Given the description of an element on the screen output the (x, y) to click on. 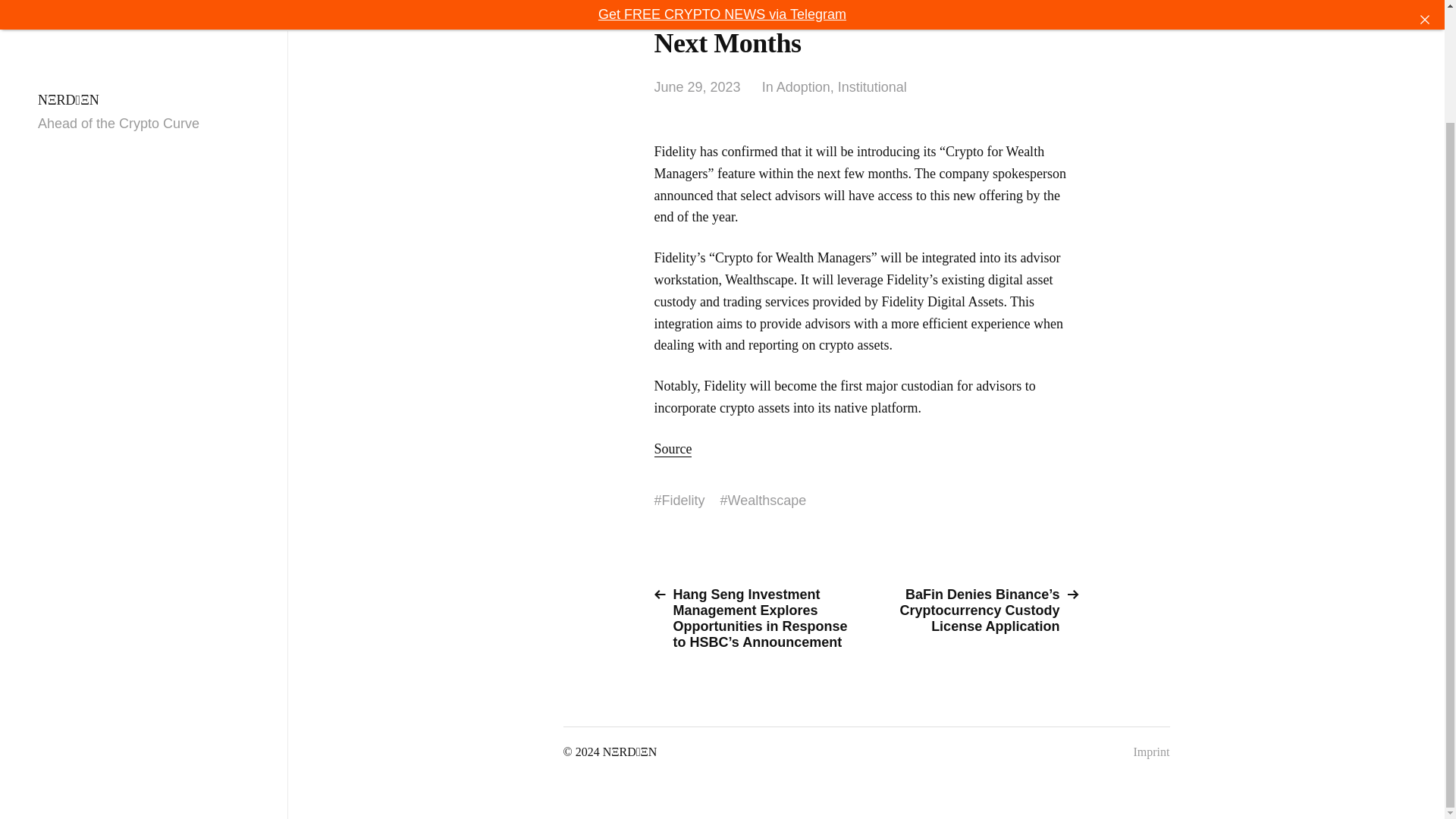
Institutional (872, 87)
Wealthscape (767, 500)
Source (672, 449)
Imprint (1150, 752)
Fidelity (683, 500)
June 29, 2023 (696, 87)
Adoption (802, 87)
